Given the description of an element on the screen output the (x, y) to click on. 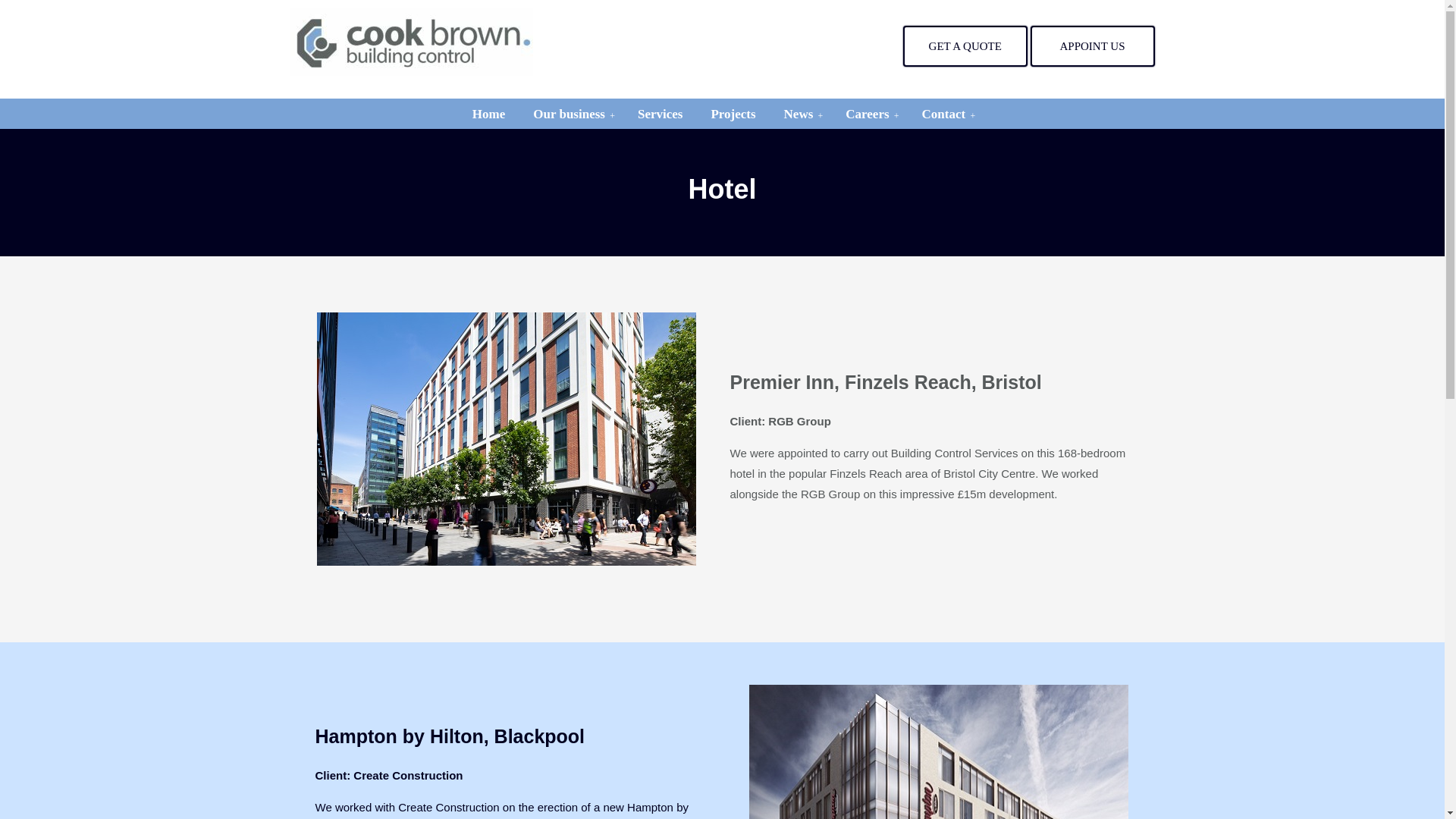
Cook Brown Building Control Ltd (410, 41)
Home (488, 114)
Careers (868, 114)
Cook Brown Building Control Ltd (410, 41)
APPOINT US (1091, 45)
Our business (571, 114)
Projects (732, 114)
Services (660, 114)
News (800, 114)
Contact (946, 114)
GET A QUOTE (964, 45)
